Given the description of an element on the screen output the (x, y) to click on. 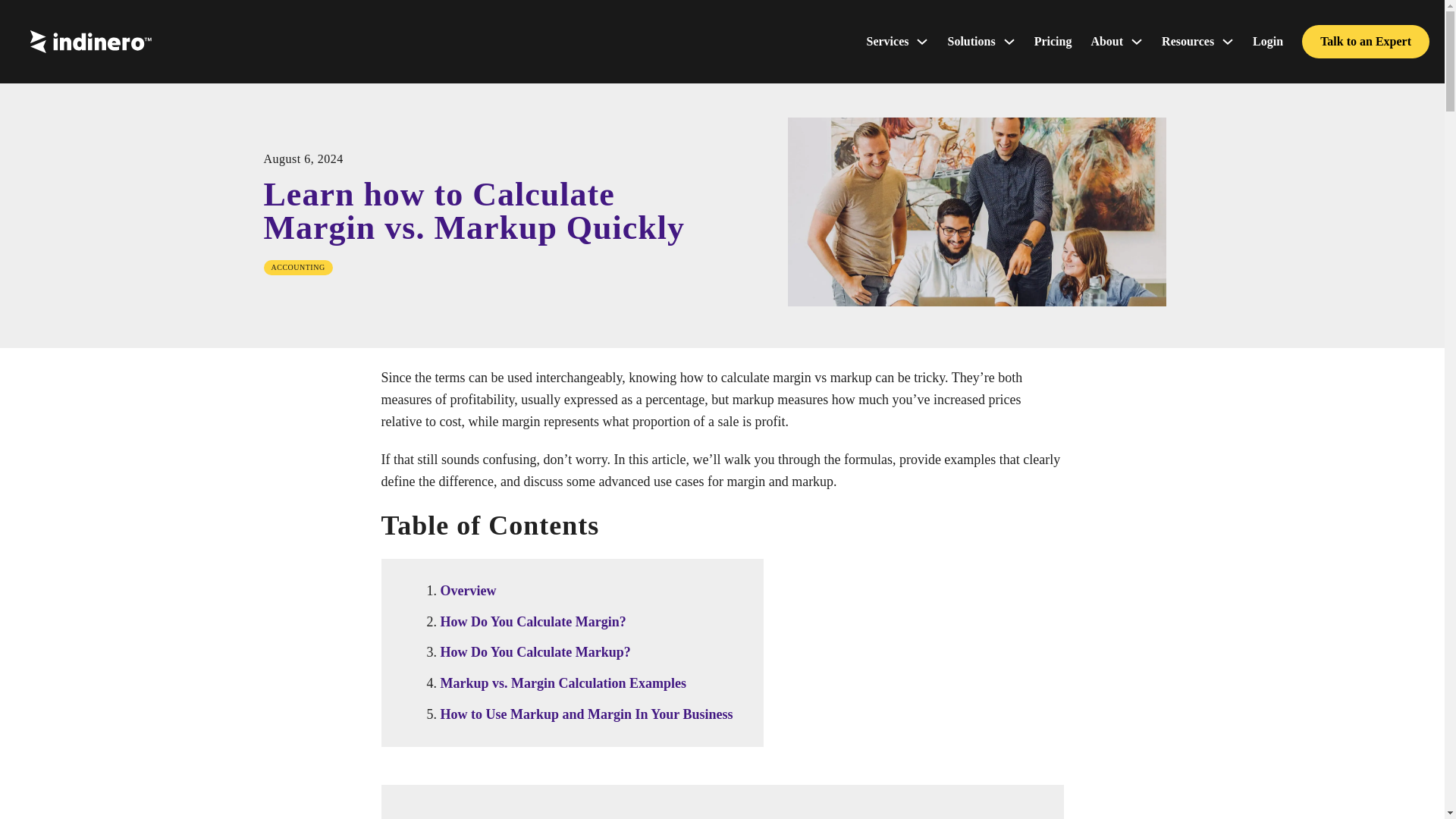
Solutions (970, 39)
Resources (1187, 39)
About (1106, 39)
Talk to an Expert (1365, 41)
Login (1267, 39)
Pricing (1052, 39)
Services (887, 39)
